Given the description of an element on the screen output the (x, y) to click on. 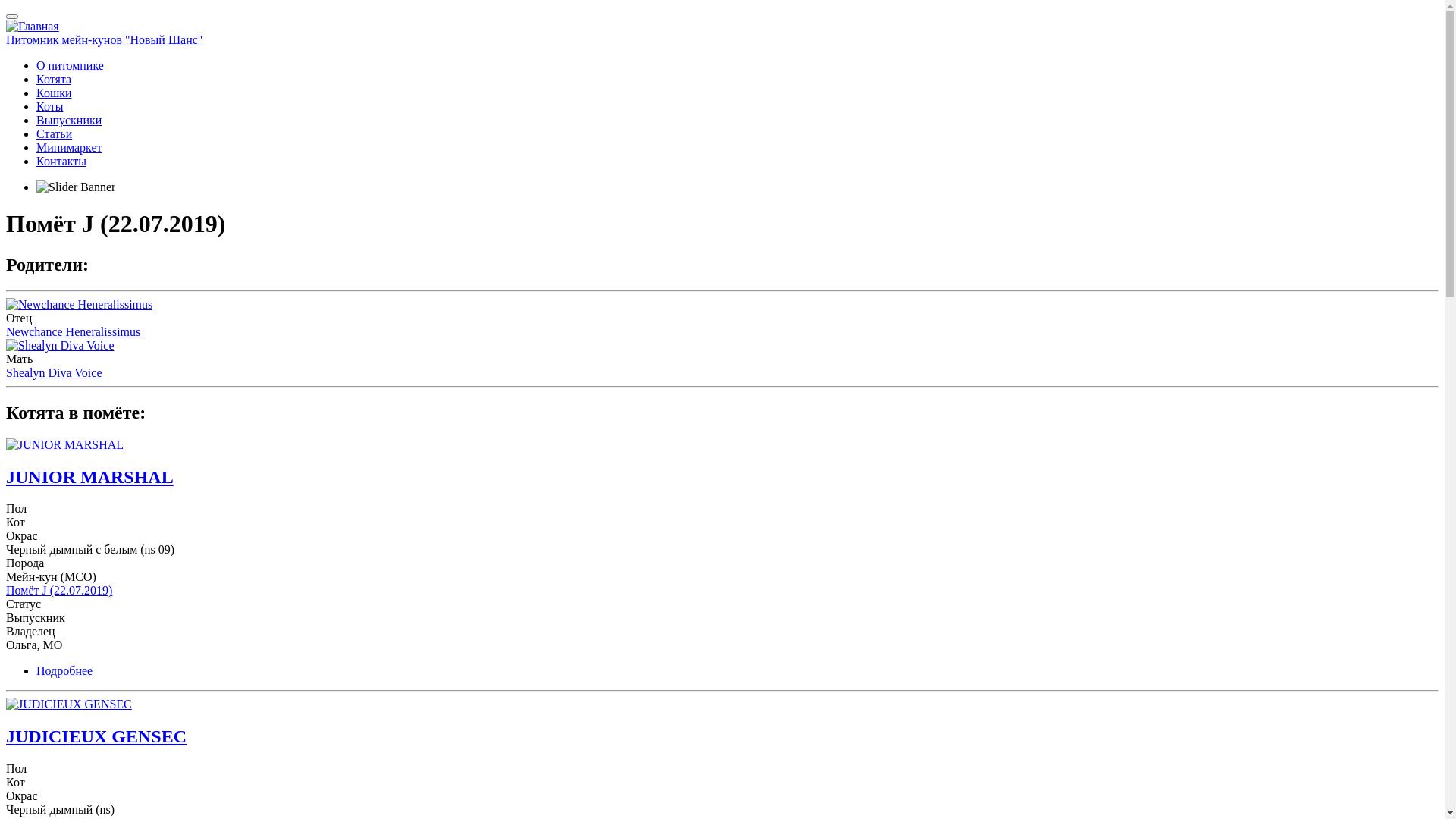
Shealyn Diva Voice Element type: text (54, 372)
Newchance Heneralissimus Element type: text (73, 331)
JUDICIEUX GENSEC Element type: text (96, 736)
JUNIOR MARSHAL Element type: text (89, 476)
